Given the description of an element on the screen output the (x, y) to click on. 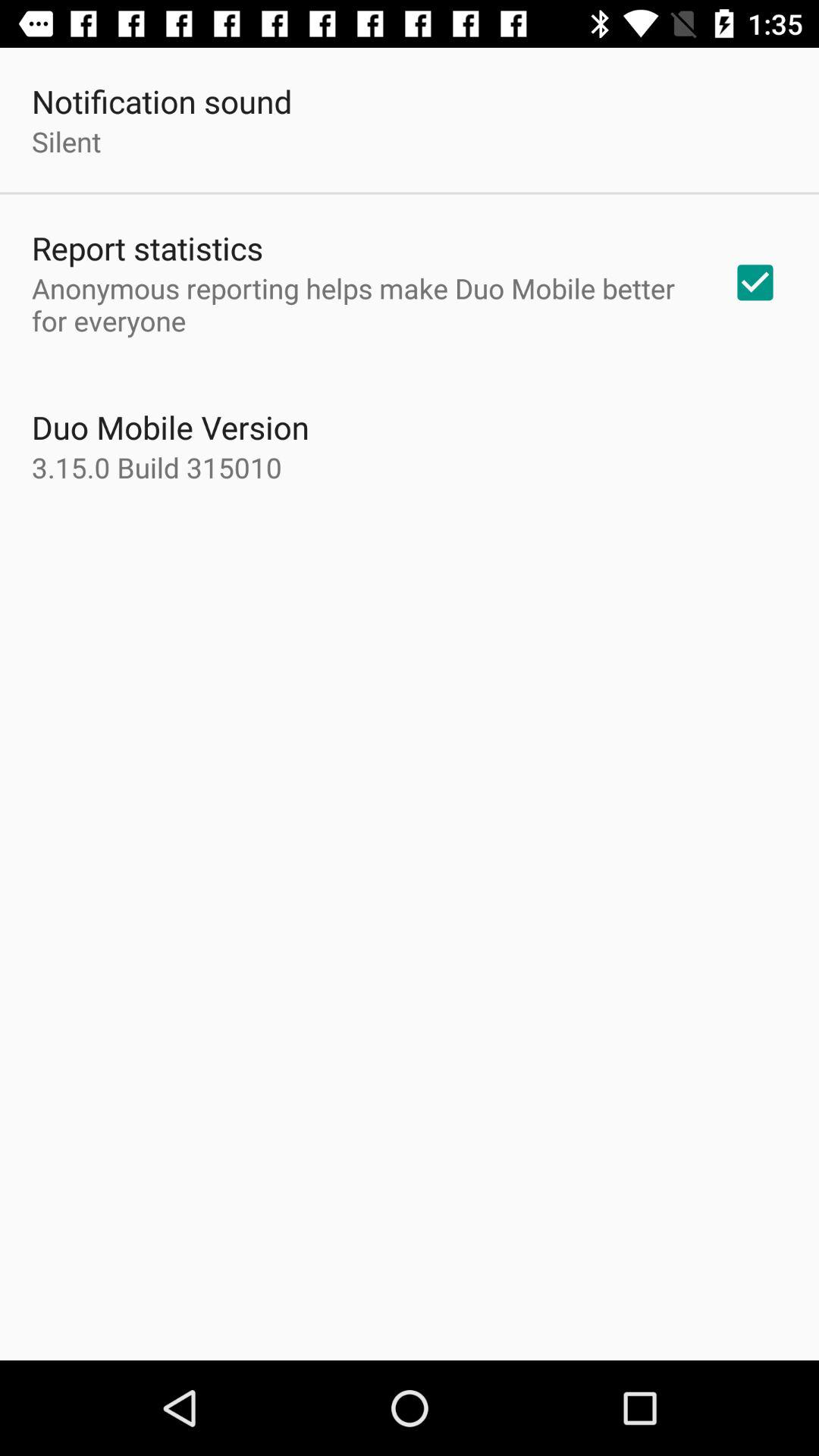
turn on the notification sound icon (161, 100)
